Given the description of an element on the screen output the (x, y) to click on. 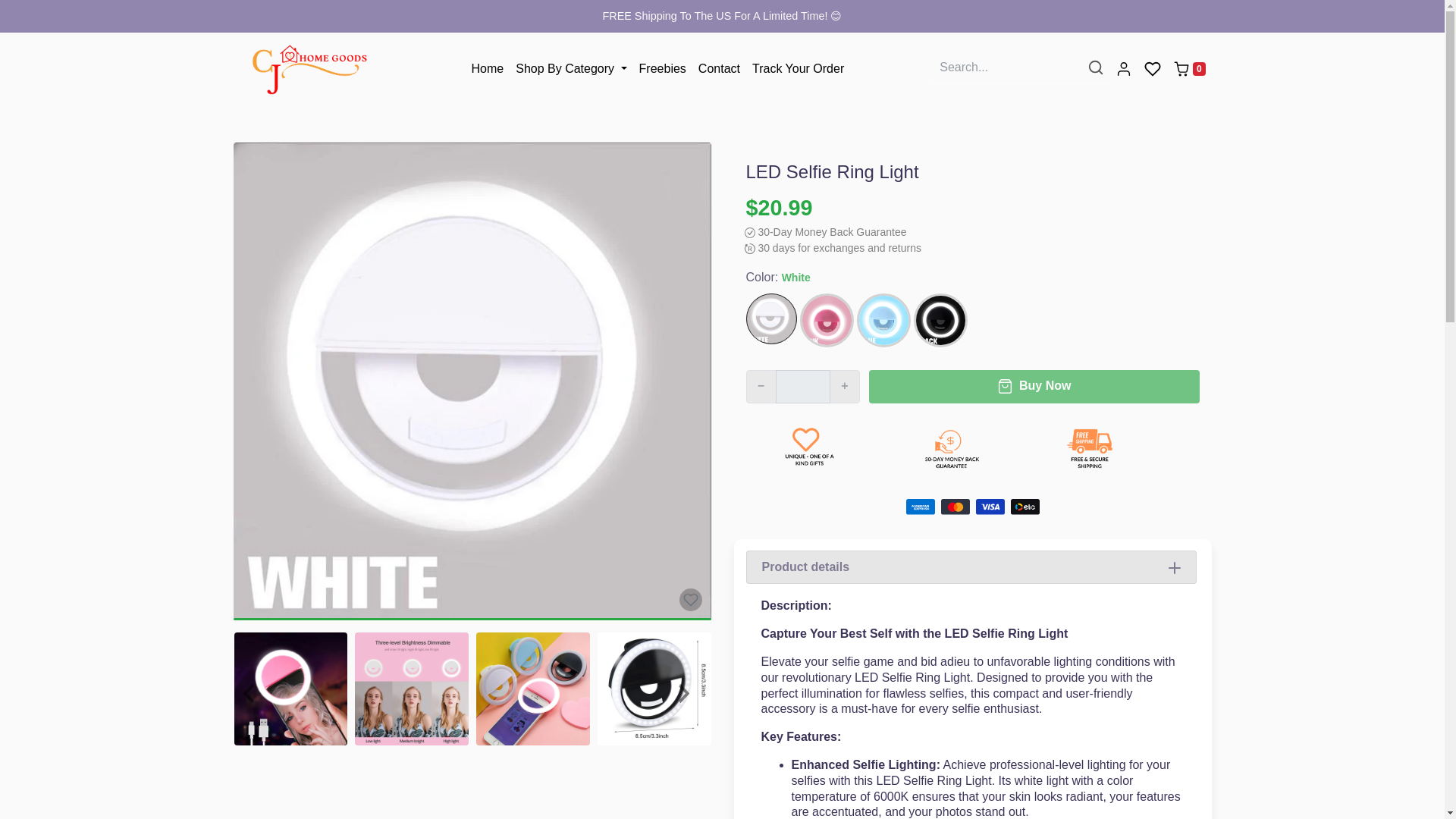
0 (1189, 68)
Shop By Category (570, 68)
Home (488, 68)
Blue (884, 320)
White (770, 318)
Freebies (663, 68)
Track Your Order (797, 68)
Black (939, 320)
Contact (719, 68)
Pink (826, 320)
